Given the description of an element on the screen output the (x, y) to click on. 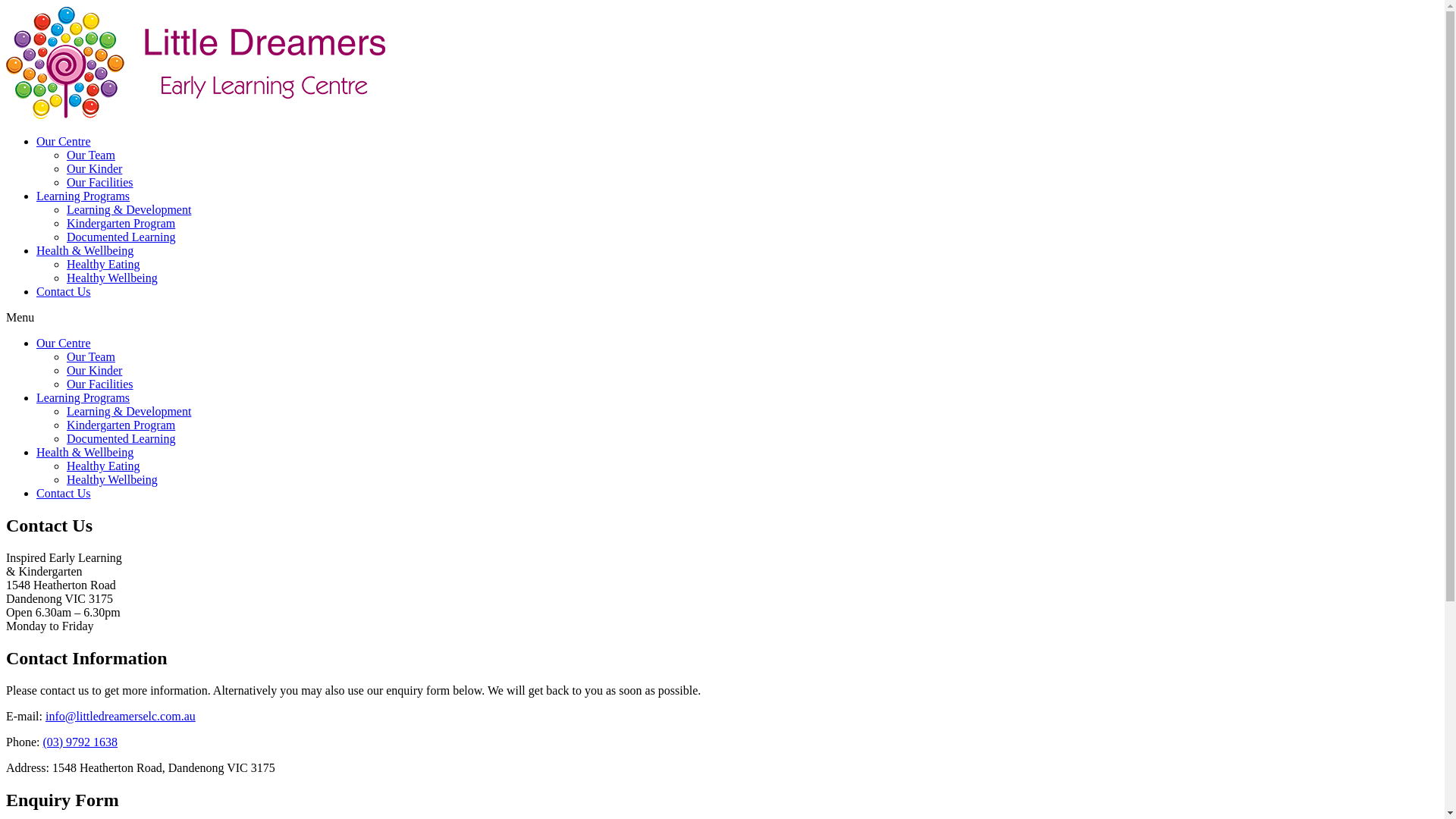
Our Centre Element type: text (63, 342)
info@littledreamerselc.com.au Element type: text (120, 715)
Contact Us Element type: text (63, 492)
Kindergarten Program Element type: text (120, 424)
Documented Learning Element type: text (120, 438)
Health & Wellbeing Element type: text (84, 451)
Learning & Development Element type: text (128, 209)
Learning Programs Element type: text (82, 397)
Contact Us Element type: text (63, 291)
Our Centre Element type: text (63, 140)
Health & Wellbeing Element type: text (84, 250)
Our Team Element type: text (90, 356)
Our Team Element type: text (90, 154)
Kindergarten Program Element type: text (120, 222)
Healthy Wellbeing Element type: text (111, 277)
Documented Learning Element type: text (120, 236)
(03) 9792 1638 Element type: text (79, 741)
Healthy Eating Element type: text (102, 263)
Healthy Eating Element type: text (102, 465)
Our Kinder Element type: text (94, 370)
Learning Programs Element type: text (82, 195)
Healthy Wellbeing Element type: text (111, 479)
Our Kinder Element type: text (94, 168)
Our Facilities Element type: text (99, 383)
Learning & Development Element type: text (128, 410)
Our Facilities Element type: text (99, 181)
